Given the description of an element on the screen output the (x, y) to click on. 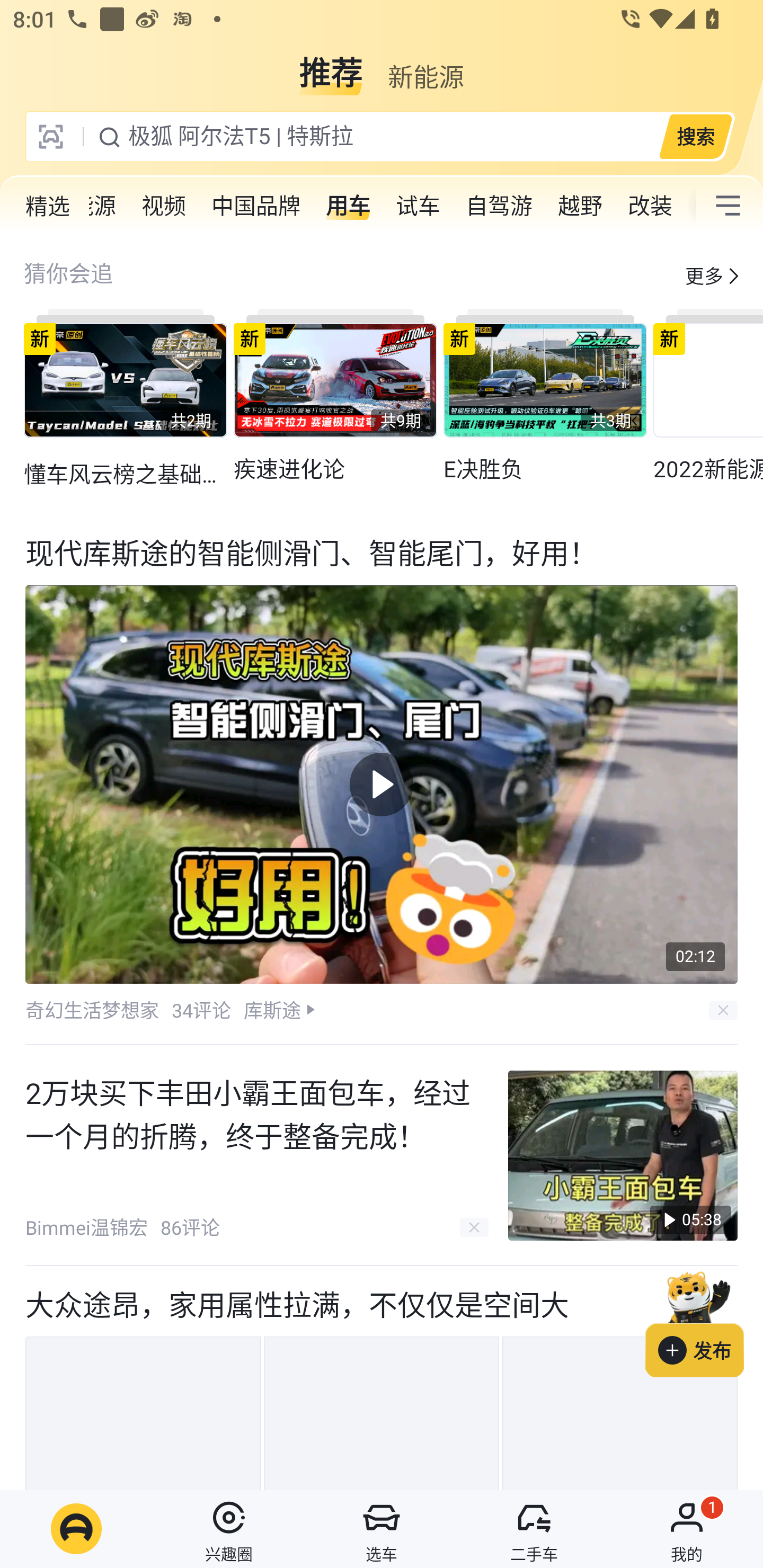
推荐 (330, 65)
新能源 (425, 65)
搜索 (695, 136)
视频 (163, 205)
中国品牌 (255, 205)
用车 (347, 205)
试车 (418, 205)
自驾游 (499, 205)
越野 (579, 205)
改装 (649, 205)
 (727, 205)
精选 (47, 206)
更多 (704, 275)
共2期 懂车风云榜之基础性能榜 (125, 398)
共9期 疾速进化论 (335, 395)
共3期 E决胜负 (545, 395)
现代库斯途的智能侧滑门、智能尾门，好用！  02:12 奇幻生活梦想家 34评论 库斯途 (381, 779)
库斯途 (271, 1009)
大众途昂，家用属性拉满，不仅仅是空间大 (381, 1377)
发布 (704, 1320)
 兴趣圈 (228, 1528)
 选车 (381, 1528)
 二手车 (533, 1528)
 我的 (686, 1528)
